Given the description of an element on the screen output the (x, y) to click on. 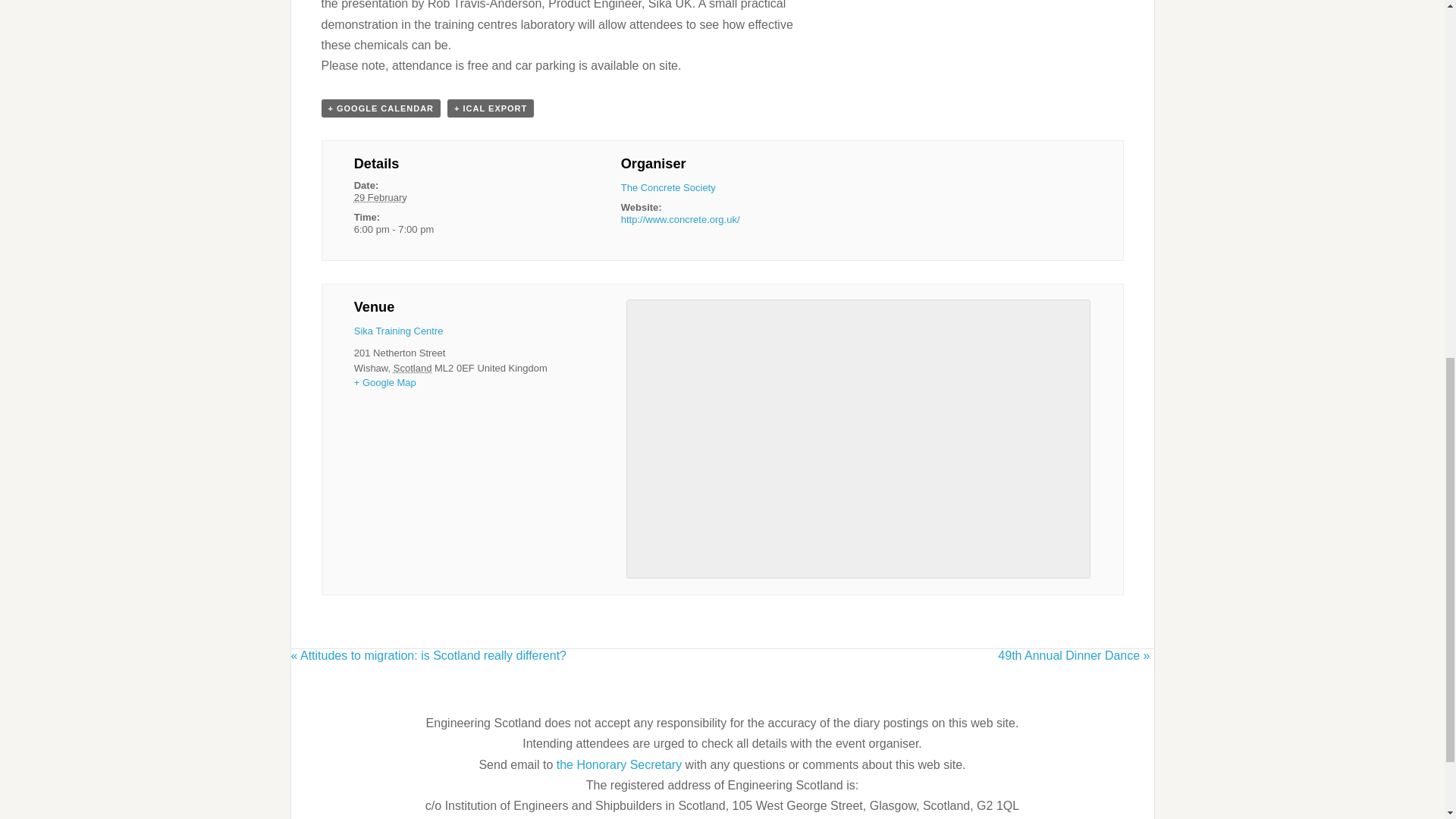
the Honorary Secretary (620, 764)
2024-02-29 (380, 197)
Sika Training Centre (398, 330)
Scotland (412, 367)
Download .ics file (490, 108)
The Concrete Society (668, 187)
Add to Google Calendar (381, 108)
The Concrete Society (668, 187)
2024-02-29 (455, 229)
Click to view a Google Map (384, 382)
